Given the description of an element on the screen output the (x, y) to click on. 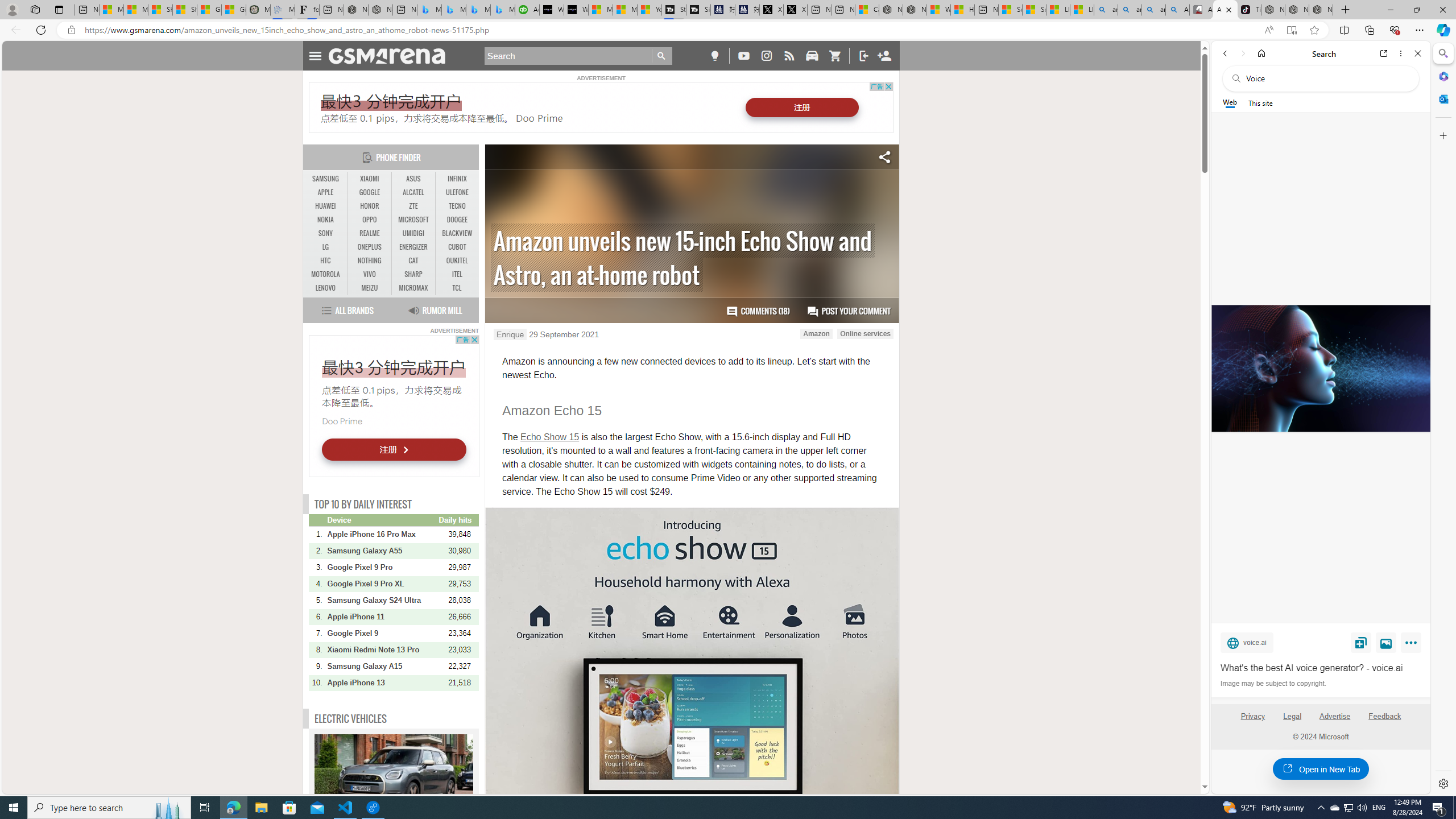
Nordace - Siena Pro 15 Essential Set (1321, 9)
ONEPLUS (369, 246)
View image (1385, 642)
Enter Immersive Reader (F9) (1291, 29)
ONEPLUS (369, 246)
ALCATEL (413, 192)
CUBOT (457, 246)
BLACKVIEW (457, 233)
